Given the description of an element on the screen output the (x, y) to click on. 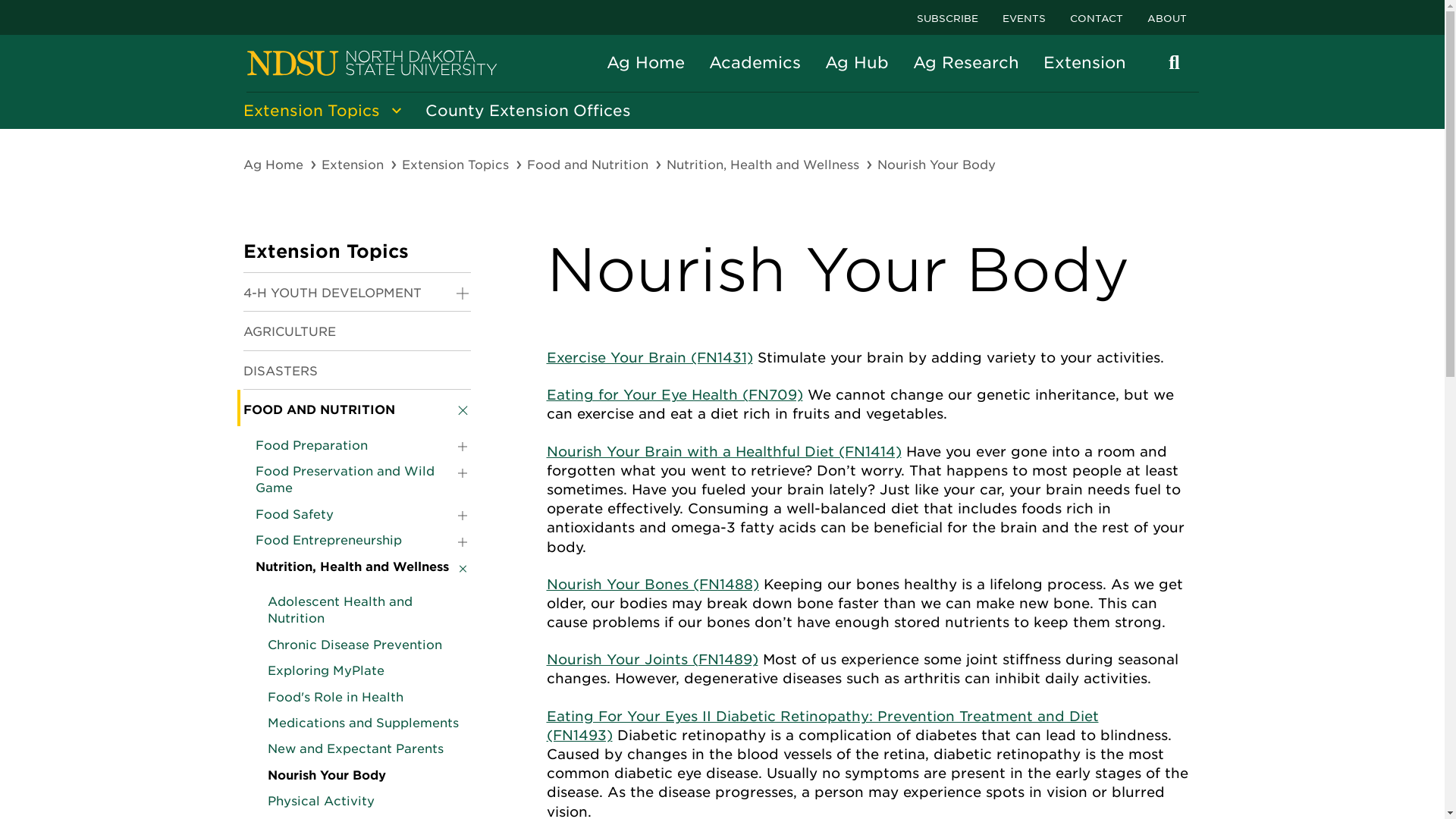
ABOUT (1166, 17)
SUBSCRIBE (947, 17)
Ag Home (645, 62)
Extension (354, 164)
Food and Nutrition (587, 164)
Extension (1084, 62)
Extension Topics (315, 110)
Ag Hub (856, 62)
Academics (753, 62)
Ag Research (965, 62)
CONTACT (1095, 17)
County Extension Offices (526, 110)
Ag Home (274, 164)
EVENTS (1024, 17)
